Given the description of an element on the screen output the (x, y) to click on. 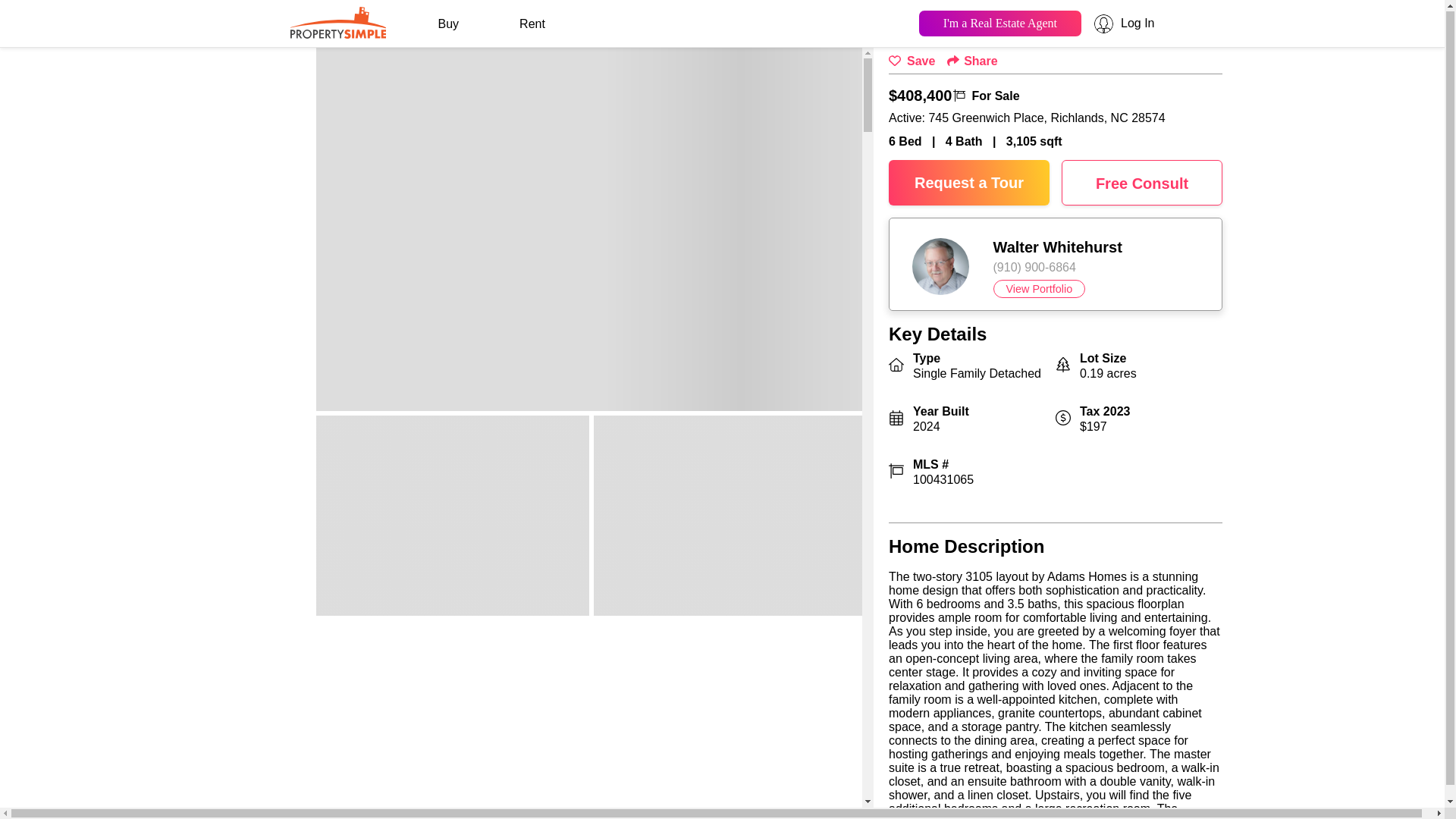
Request a Tour (968, 182)
Buy (448, 23)
Free Consult (1142, 182)
PropertySimple's Logo (337, 20)
PropertySimple's Logo (337, 32)
Rent (532, 23)
View Portfolio (1039, 289)
I'm a Real Estate Agent (999, 22)
